Given the description of an element on the screen output the (x, y) to click on. 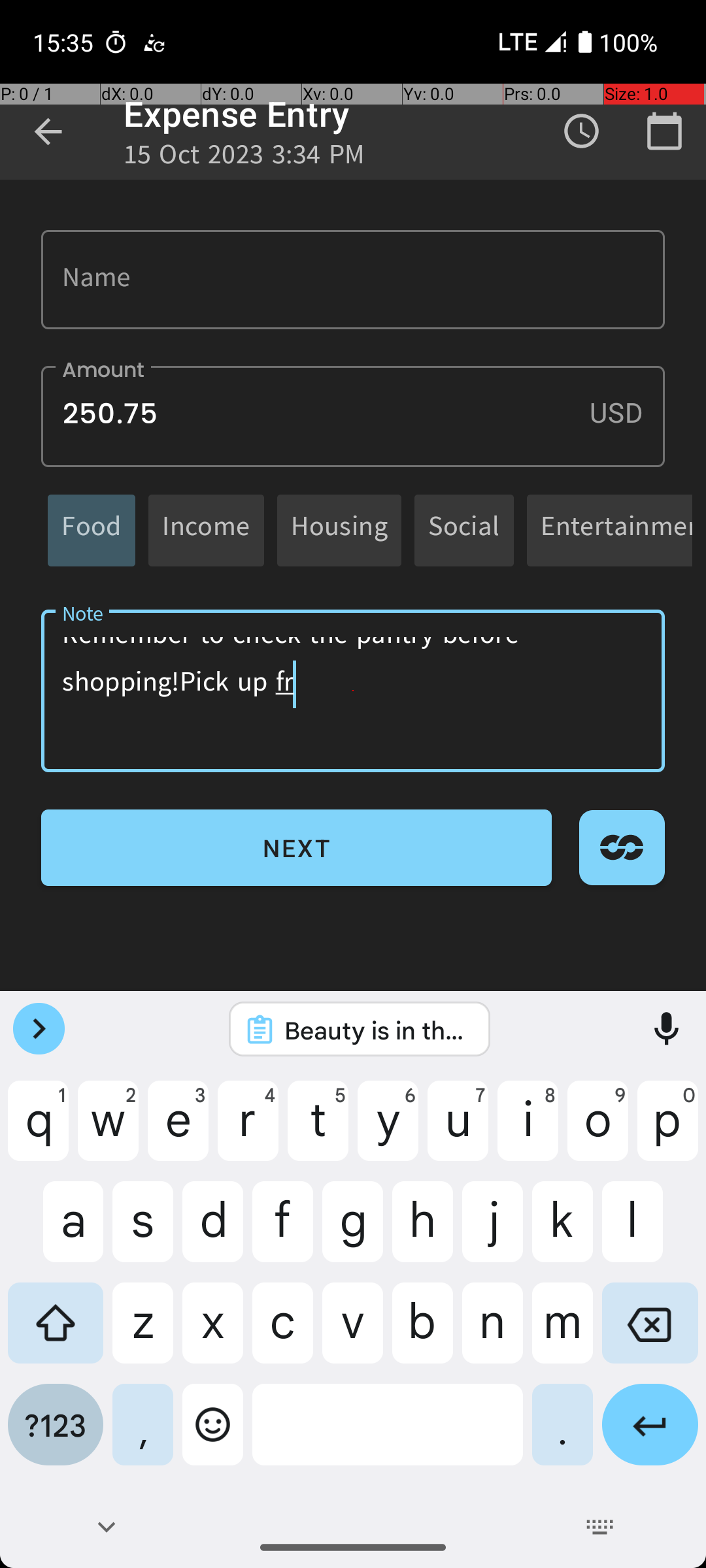
250.75 Element type: android.widget.EditText (352, 416)
Don't forget to buy groceries for the week!
Remember to check the pantry before shopping!Pick up fr
 Element type: android.widget.EditText (352, 690)
NEXT Element type: android.widget.Button (296, 847)
Beauty is in the eye of the beholder. Element type: android.widget.TextView (376, 1029)
